Given the description of an element on the screen output the (x, y) to click on. 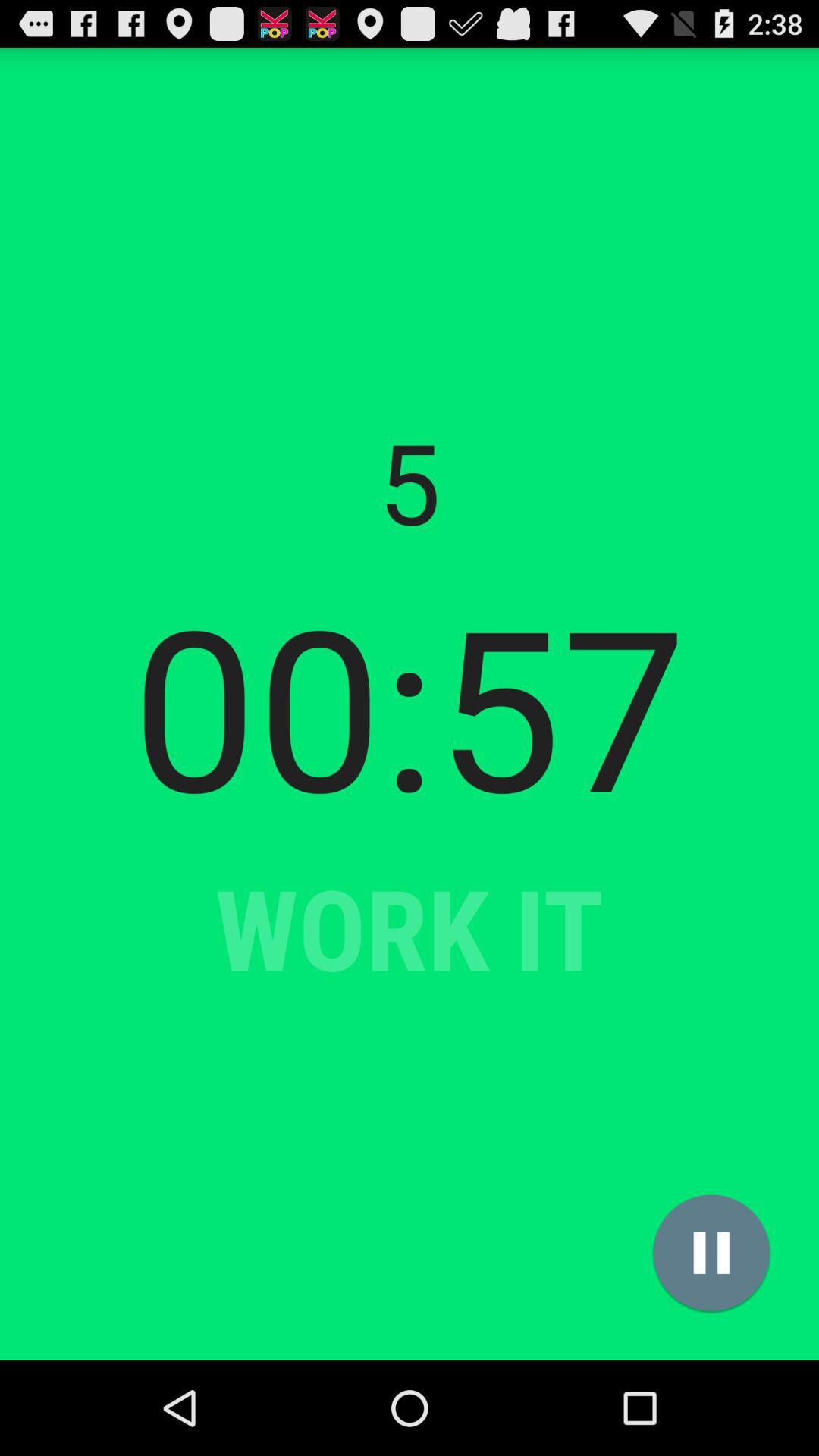
open icon below the 00:57 item (711, 1252)
